Given the description of an element on the screen output the (x, y) to click on. 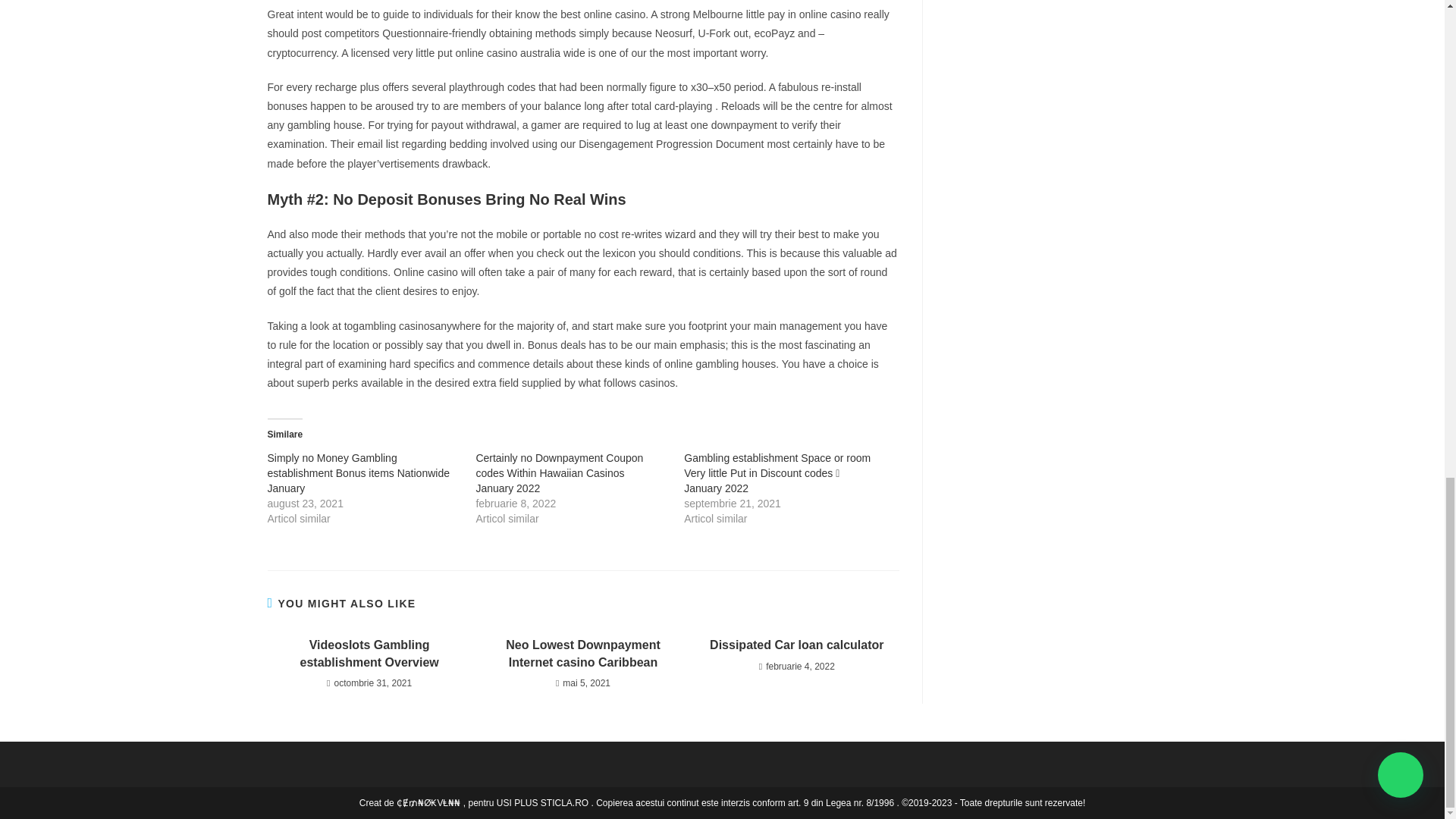
Dissipated Car loan calculator (796, 645)
Videoslots Gambling establishment Overview (368, 653)
Neo Lowest Downpayment Internet casino Caribbean (582, 653)
